Given the description of an element on the screen output the (x, y) to click on. 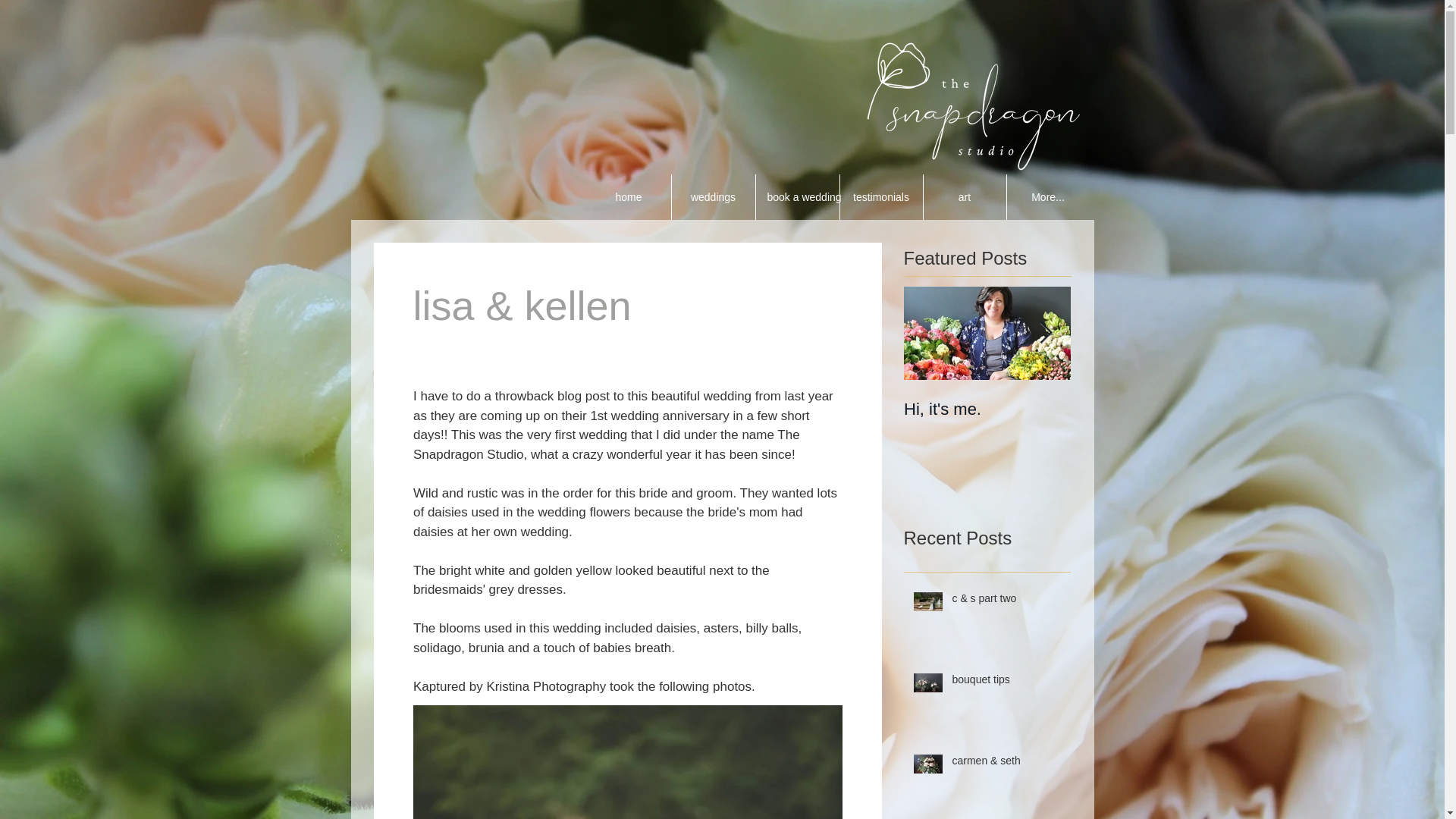
book a wedding (797, 197)
testimonials (879, 197)
bouquet tips (1006, 682)
art (963, 197)
Hi, it's me. (987, 409)
Outdoor Decor Care Tips (1153, 418)
weddings (711, 197)
2917E9C7-19D4-4A03-AA08-770540D46349.png (973, 101)
home (628, 197)
